Given the description of an element on the screen output the (x, y) to click on. 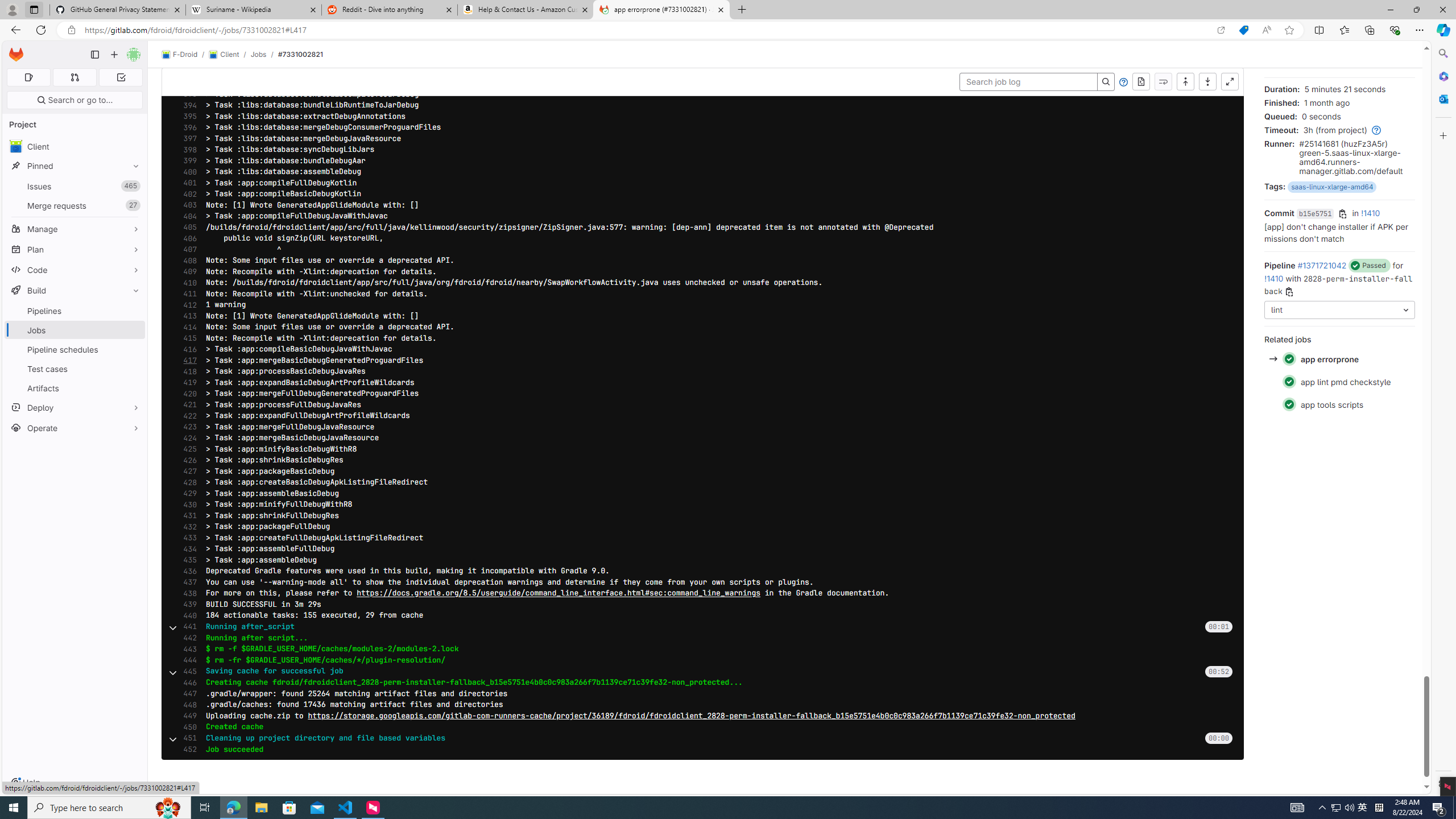
Test cases (74, 368)
BuildPipelinesJobsPipeline schedulesTest casesArtifacts (74, 338)
401 (186, 183)
410 (186, 282)
407 (186, 249)
avatar Client (74, 145)
395 (186, 116)
Client/ (229, 54)
404 (186, 216)
Pipeline schedules (74, 348)
Pin Test cases (132, 368)
Deploy (74, 407)
428 (186, 482)
